Given the description of an element on the screen output the (x, y) to click on. 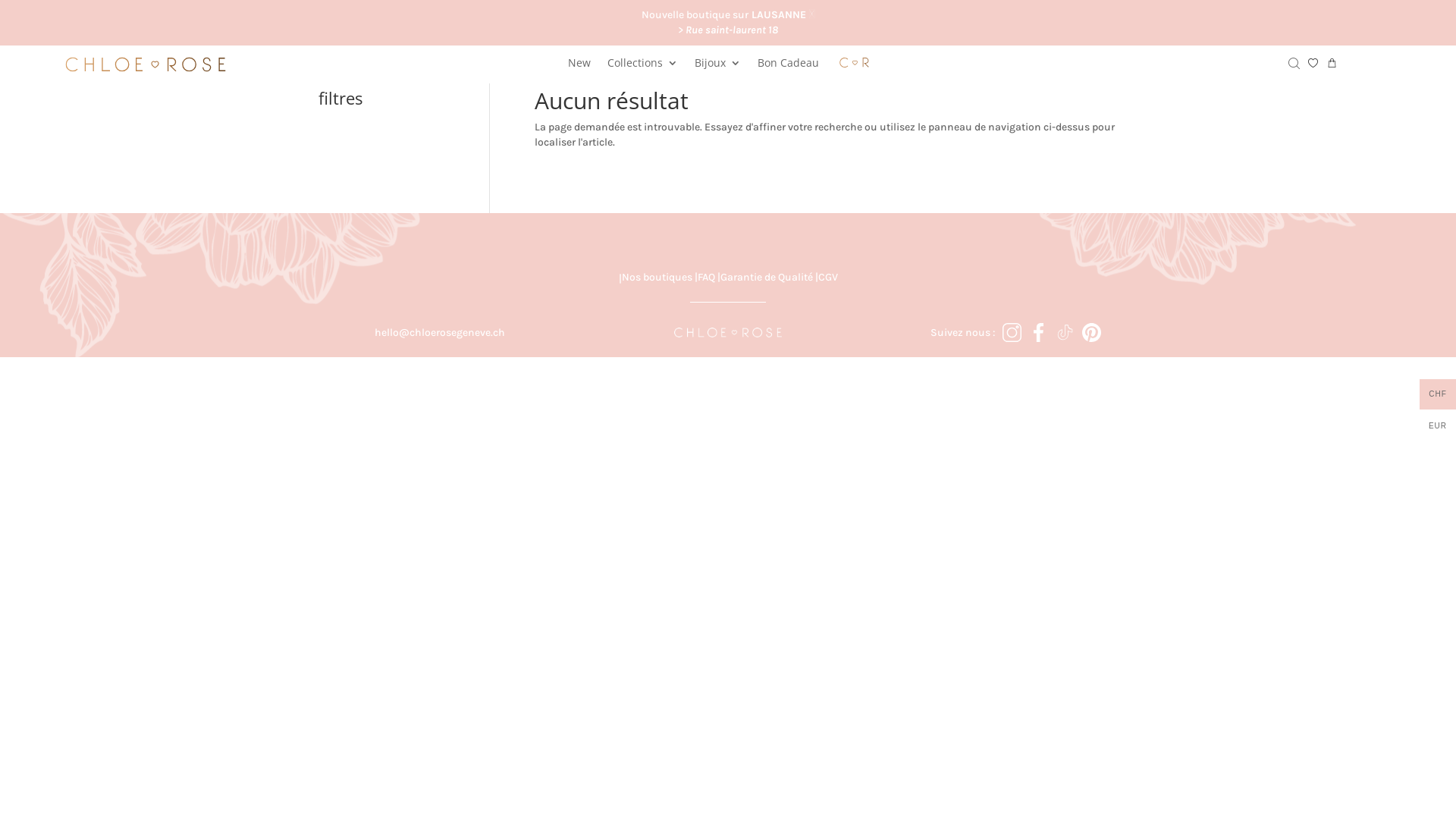
Collections Element type: text (641, 67)
CHLOE_ROSE Element type: hover (727, 332)
Bon Cadeau Element type: text (787, 67)
New Element type: text (578, 67)
Bijoux Element type: text (717, 67)
